Given the description of an element on the screen output the (x, y) to click on. 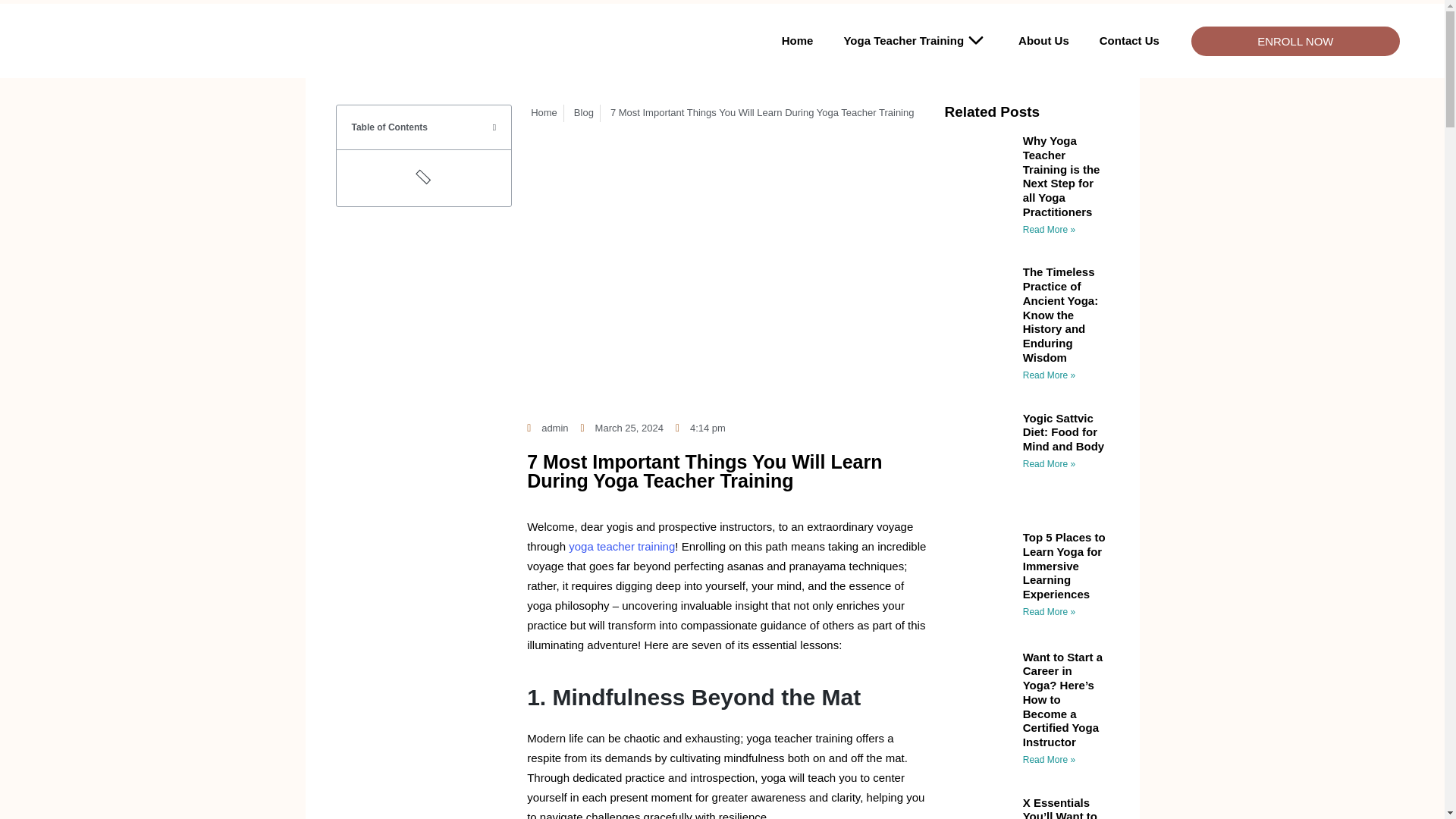
About Us (1043, 40)
ENROLL NOW (1294, 40)
Contact Us (1129, 40)
Yoga Teacher Training (915, 40)
Home (797, 40)
